Given the description of an element on the screen output the (x, y) to click on. 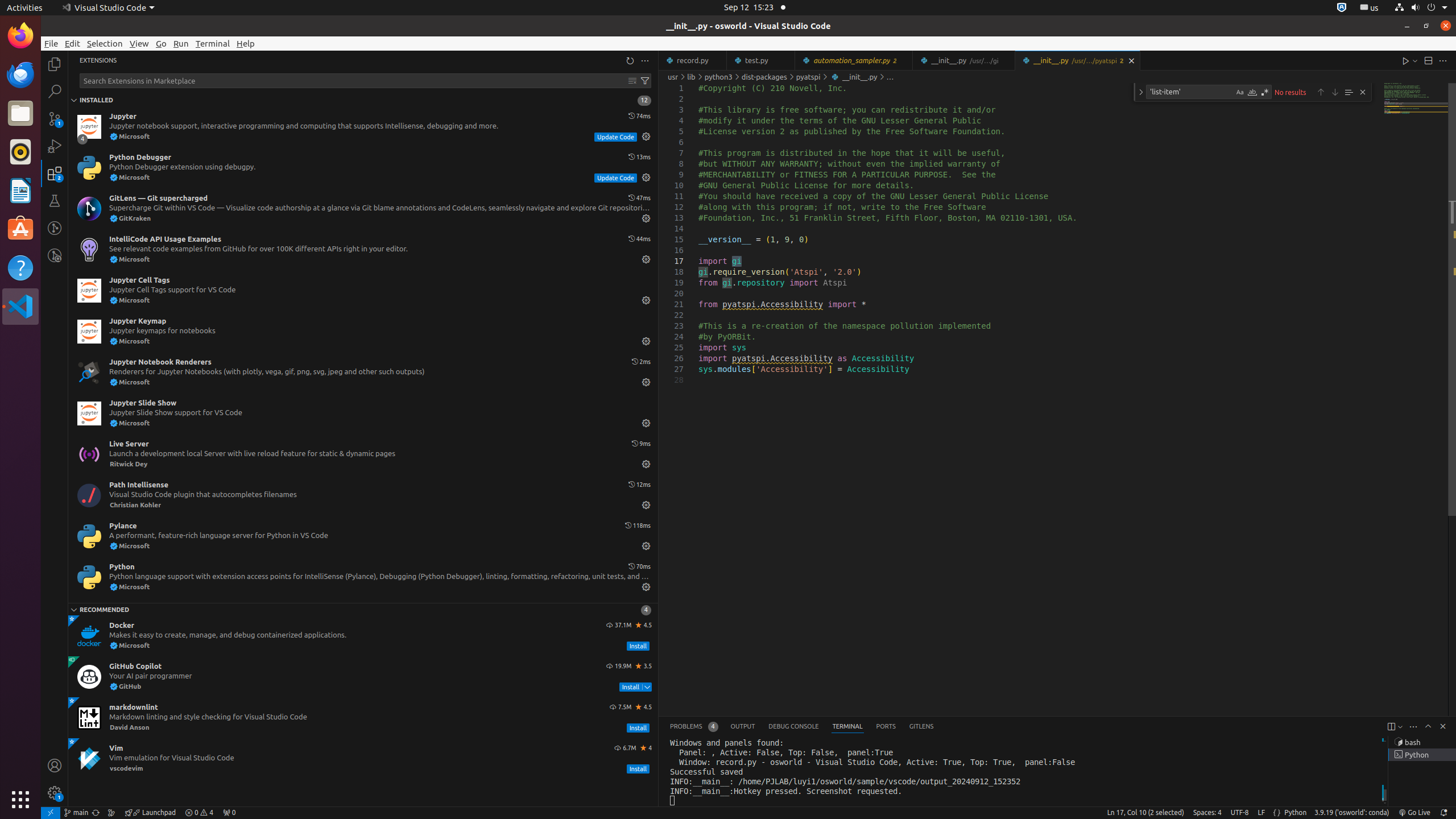
Docker, 1.29.2, Verified Publisher Microsoft, Makes it easy to create, manage, and debug containerized applications. , Rated 4.62 out of 5 stars by 94 users Element type: list-item (363, 635)
3.9.19 ('osworld': conda), ~/anaconda3/envs/osworld/bin/python Element type: push-button (1351, 812)
Warnings: 4 Element type: push-button (199, 812)
View Element type: push-button (139, 43)
Jupyter Slide Show, 0.1.6, Verified Publisher Microsoft, Jupyter Slide Show support for VS Code , Rated 5.00 out of 5 stars by 2 users Element type: list-item (363, 413)
